Given the description of an element on the screen output the (x, y) to click on. 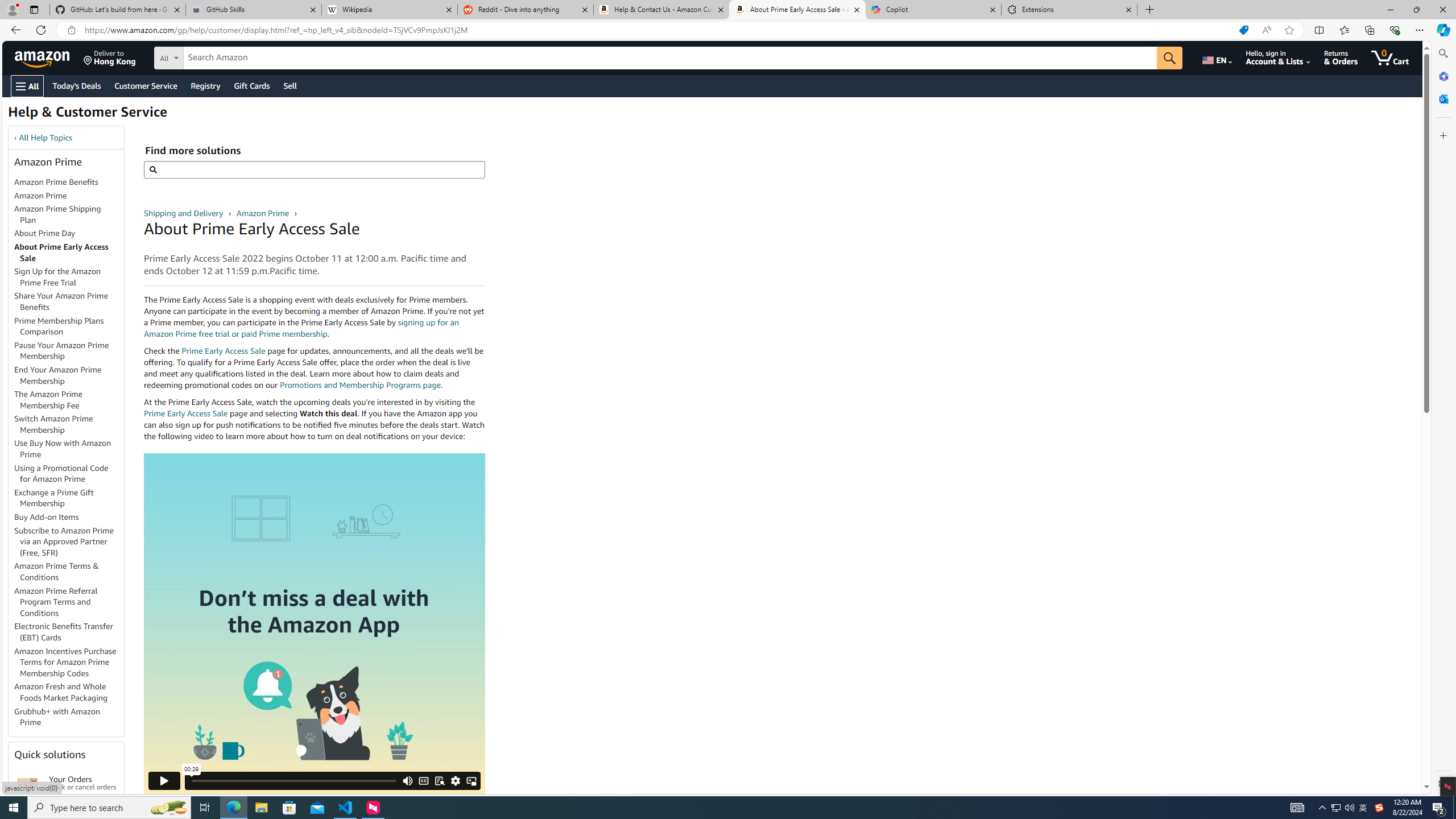
Prime Early Access Sale (186, 412)
Amazon Prime Shipping Plan (57, 214)
Shopping in Microsoft Edge (1243, 29)
Search Amazon (670, 57)
End Your Amazon Prime Membership (68, 375)
All Help Topics (45, 137)
Amazon Prime Referral Program Terms and Conditions (55, 601)
Amazon Prime (68, 196)
About Prime Early Access Sale (68, 252)
Class: PlayButton_module_playIcon__8a61c7e4 (163, 780)
